Given the description of an element on the screen output the (x, y) to click on. 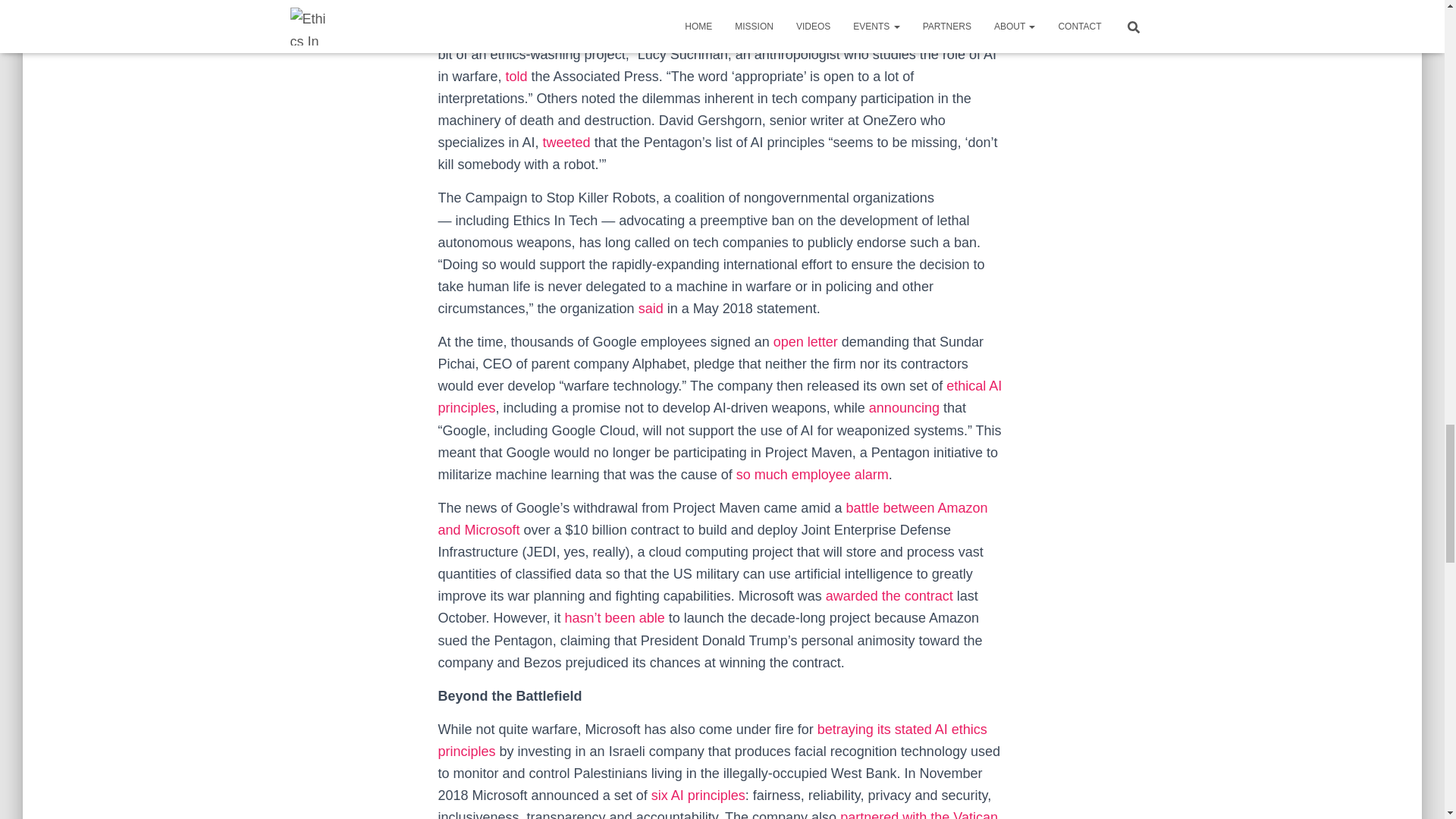
battle between Amazon and Microsoft (713, 518)
announcing (904, 407)
awarded the contract (889, 595)
open letter (805, 341)
told (516, 76)
betraying its stated AI ethics principles (712, 740)
tweeted (567, 142)
ethical AI principles (720, 396)
said (651, 308)
so much employee alarm (812, 474)
